Given the description of an element on the screen output the (x, y) to click on. 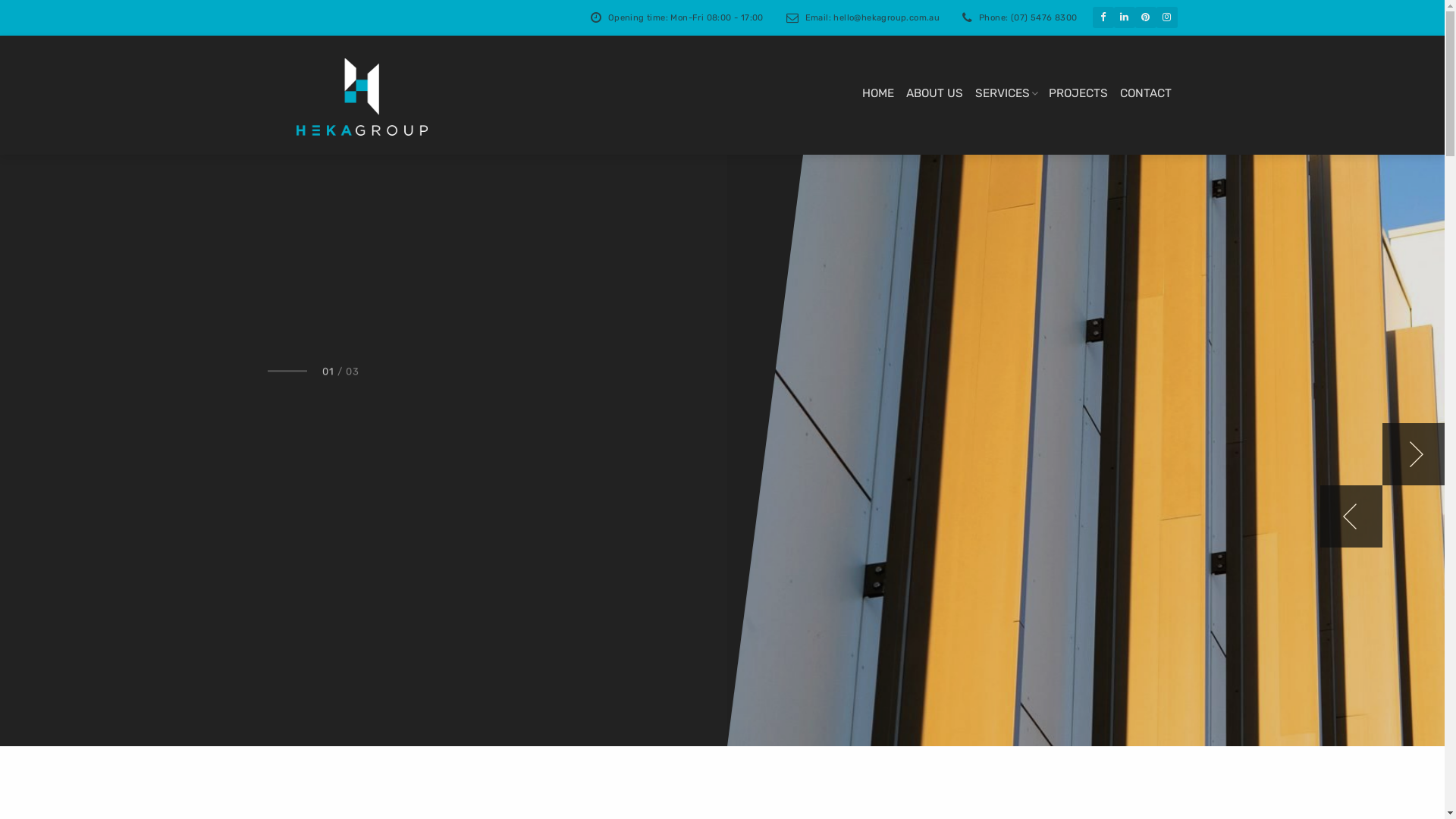
View Services Element type: text (330, 528)
CONTACT Element type: text (1144, 92)
HOME Element type: text (877, 92)
Contact us Element type: text (457, 528)
PROJECTS Element type: text (1077, 92)
SERVICES Element type: text (1002, 92)
ABOUT US Element type: text (933, 92)
